Given the description of an element on the screen output the (x, y) to click on. 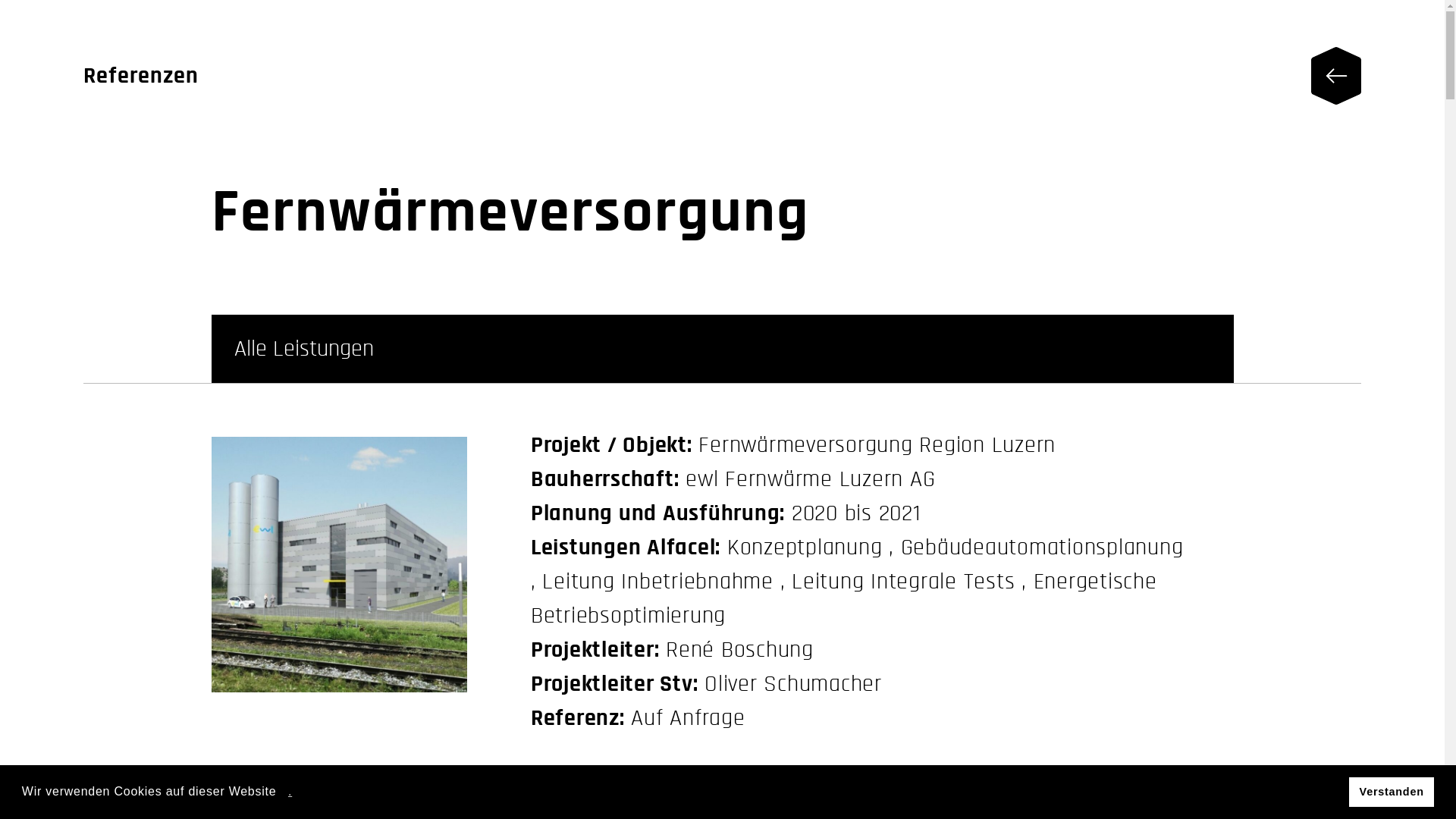
Impressum Element type: text (152, 471)
Verstanden Element type: text (1391, 791)
. Element type: text (289, 790)
Disclaimer Element type: text (249, 471)
